Given the description of an element on the screen output the (x, y) to click on. 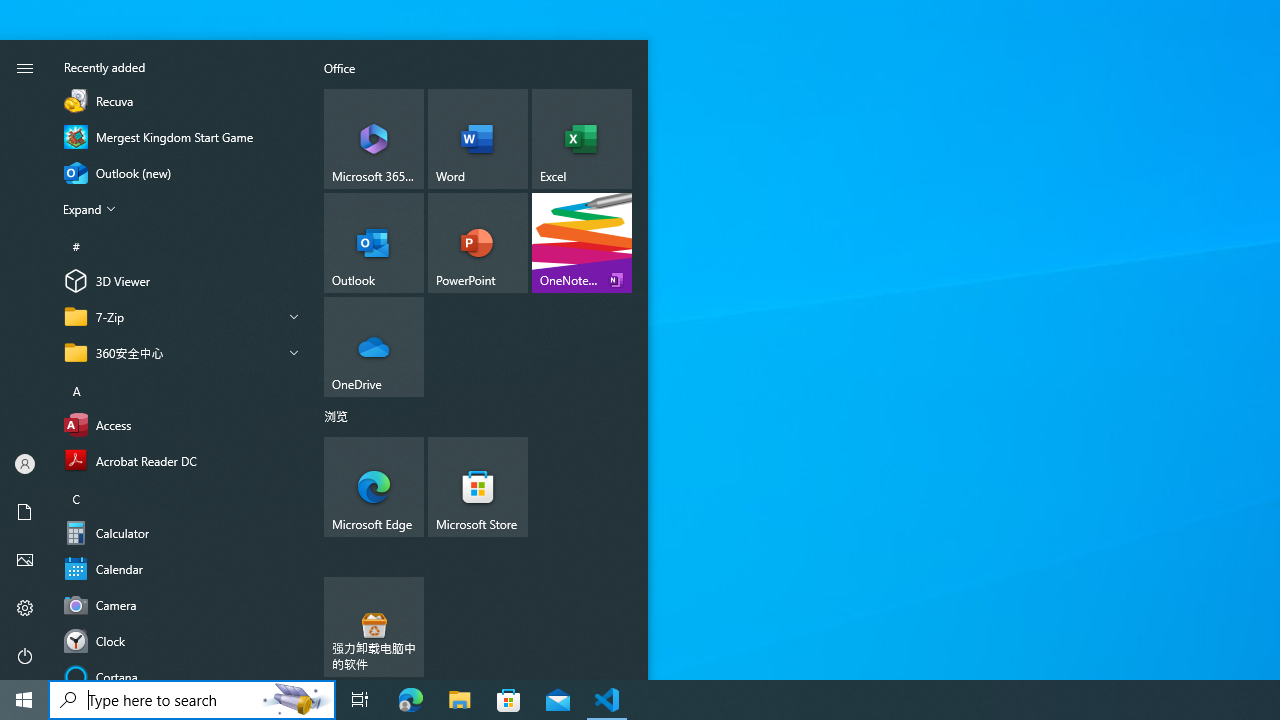
Search box (152, 699)
Search Highlights Icon (295, 699)
